Given the description of an element on the screen output the (x, y) to click on. 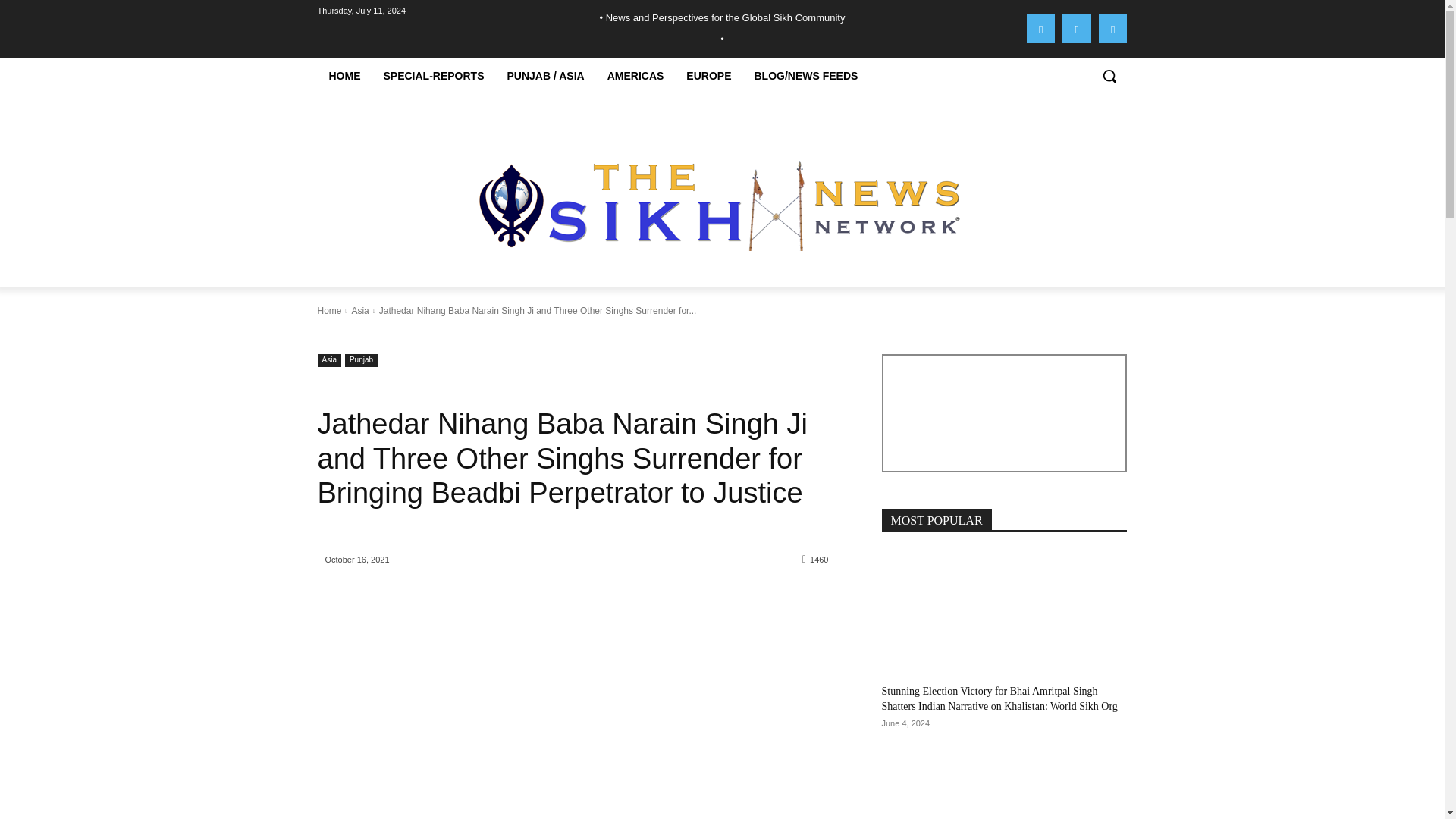
Asia (328, 359)
Facebook (1040, 28)
AMERICAS (635, 75)
View all posts in Asia (359, 310)
Asia (359, 310)
Punjab (361, 359)
Home (328, 310)
SPECIAL-REPORTS (433, 75)
Instagram (1076, 28)
Twitter (1112, 28)
